Given the description of an element on the screen output the (x, y) to click on. 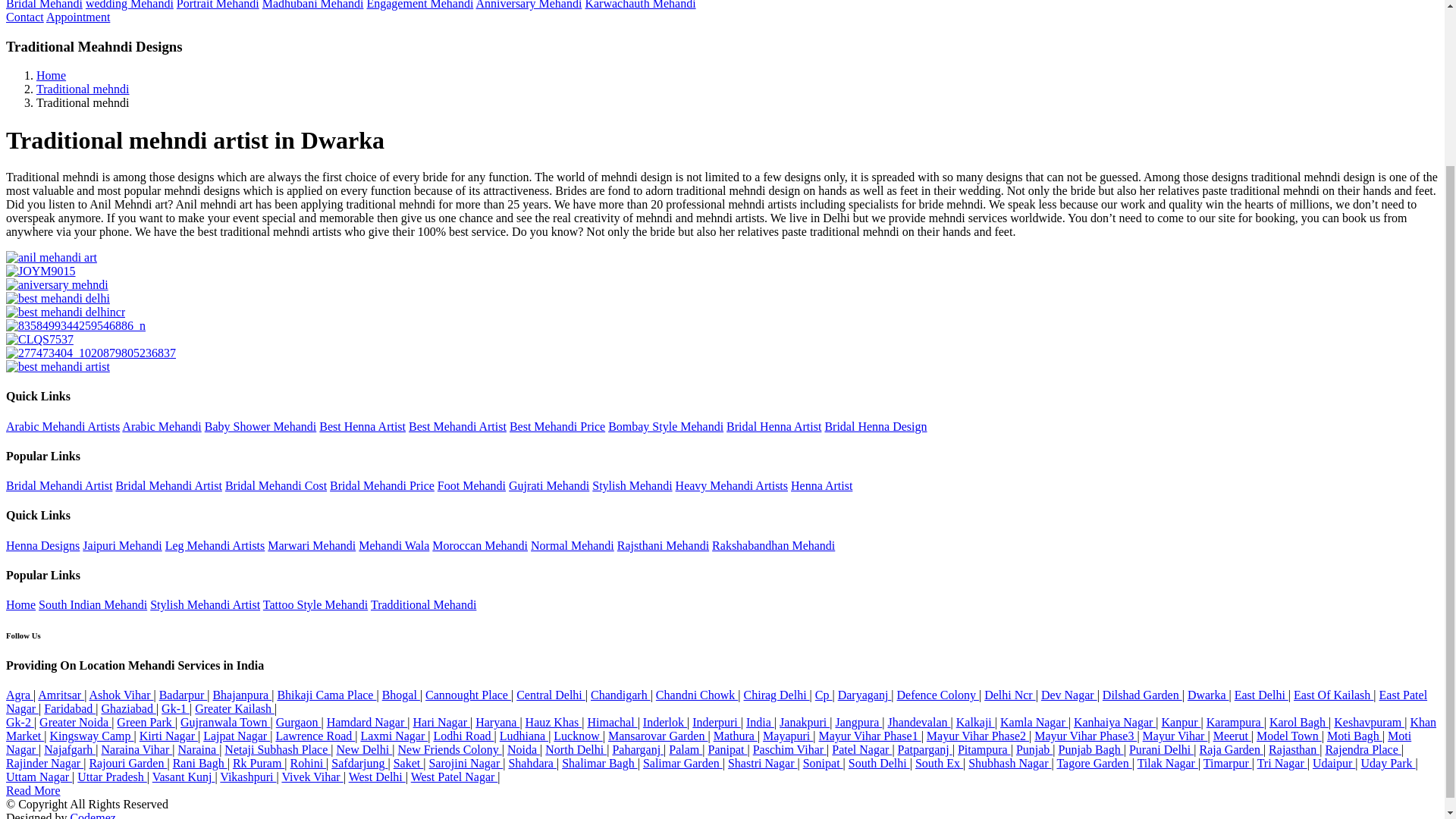
aniversary mehnd (56, 284)
best mehandi delhinc (65, 312)
Best Mehandi Artist (457, 426)
Best Henna Artist (362, 426)
wedding Mehandi (129, 4)
Bridal Henna Artist (773, 426)
CLQS753 (39, 339)
Engagement Mehandi (419, 4)
Arabic Mehandi (161, 426)
Bridal Mehandi (43, 4)
Karwachauth Mehandi (640, 4)
Appointment (78, 16)
JOYM901 (40, 271)
best mehandi delh (57, 298)
Arabic Mehandi Artists (62, 426)
